Given the description of an element on the screen output the (x, y) to click on. 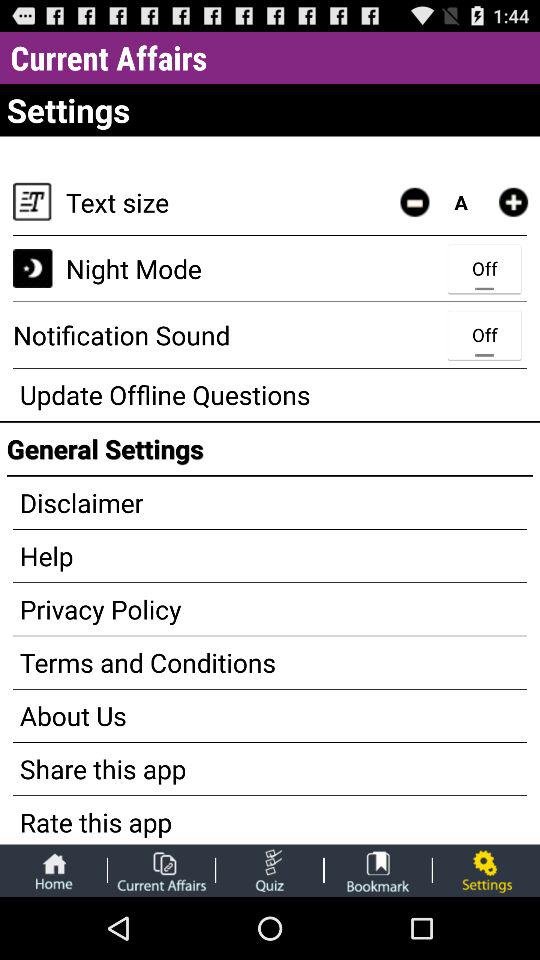
reduce text size (414, 202)
